Given the description of an element on the screen output the (x, y) to click on. 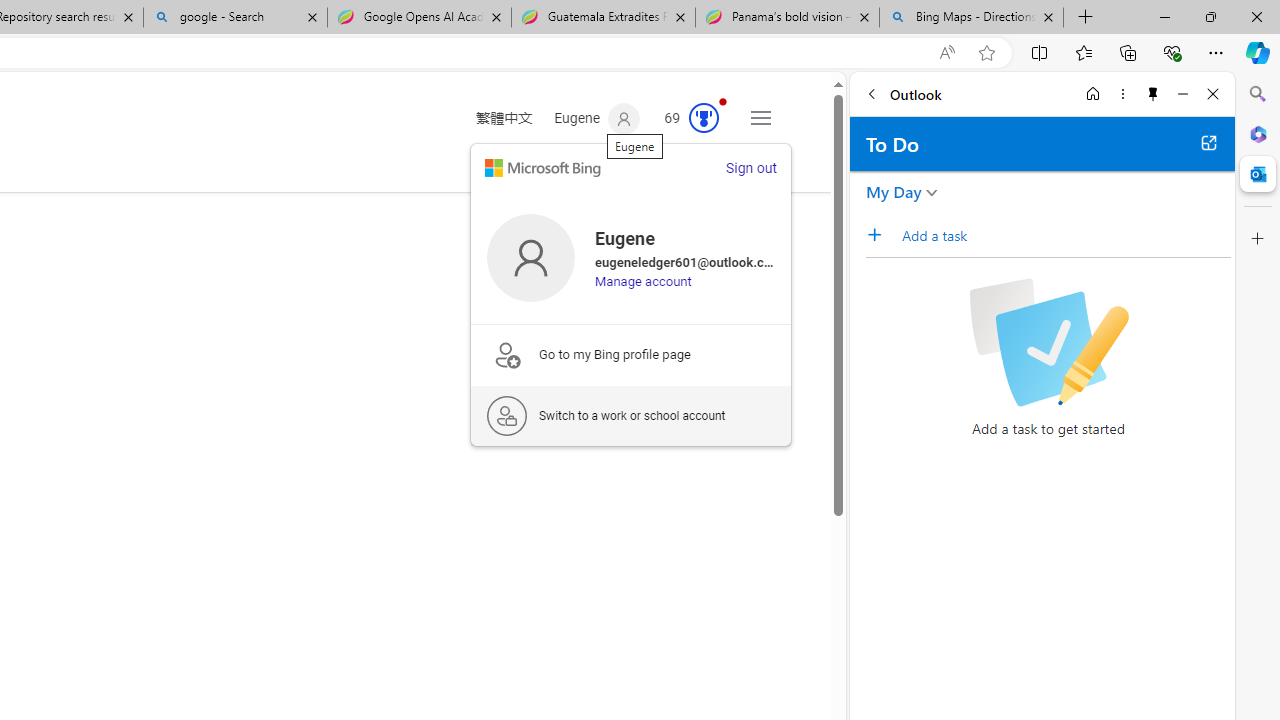
Switch to a work or school account (631, 415)
Sign out (750, 168)
work signin Switch to a work or school account (631, 415)
Eugene (597, 119)
Settings and quick links (760, 117)
work signin (506, 416)
Add a task (881, 235)
